Given the description of an element on the screen output the (x, y) to click on. 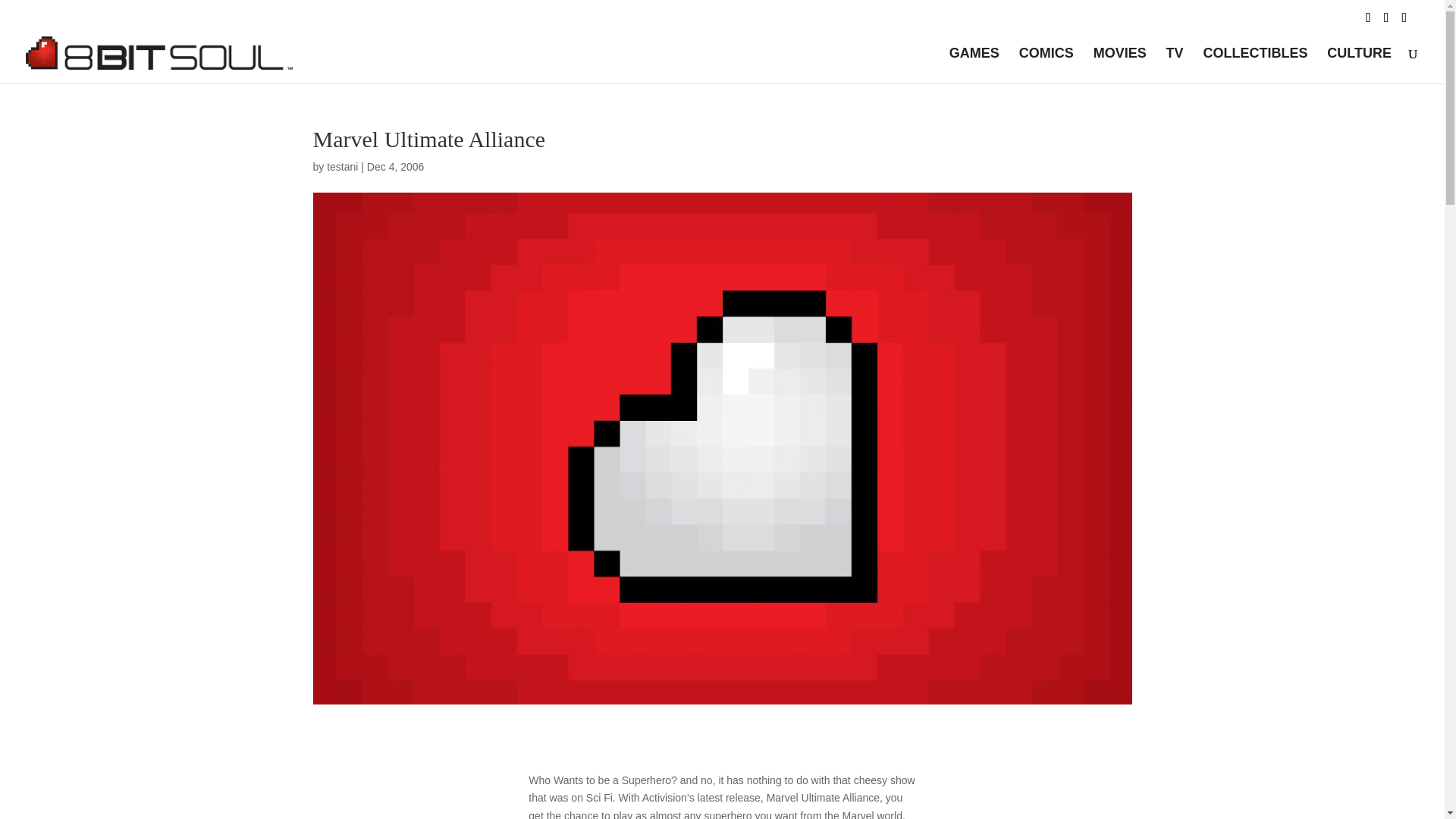
testani (342, 166)
GAMES (973, 65)
COMICS (1046, 65)
COLLECTIBLES (1254, 65)
Posts by testani (342, 166)
CULTURE (1358, 65)
MOVIES (1120, 65)
